Given the description of an element on the screen output the (x, y) to click on. 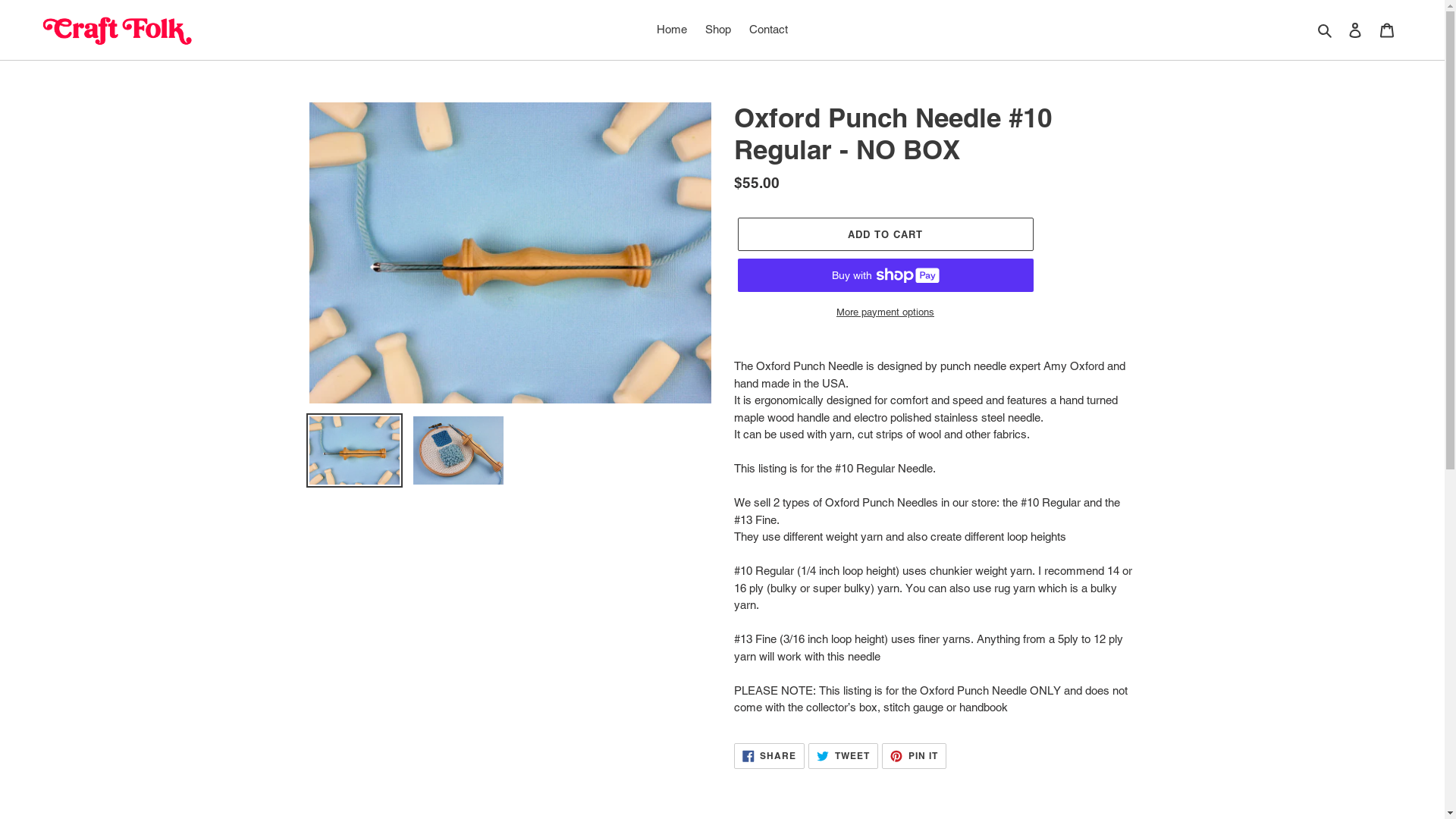
Log in Element type: text (1355, 29)
Home Element type: text (671, 29)
TWEET
TWEET ON TWITTER Element type: text (843, 755)
ADD TO CART Element type: text (884, 234)
Search Element type: text (1325, 29)
SHARE
SHARE ON FACEBOOK Element type: text (769, 755)
Contact Element type: text (768, 29)
Cart Element type: text (1386, 29)
Shop Element type: text (717, 29)
More payment options Element type: text (884, 312)
PIN IT
PIN ON PINTEREST Element type: text (913, 755)
